Given the description of an element on the screen output the (x, y) to click on. 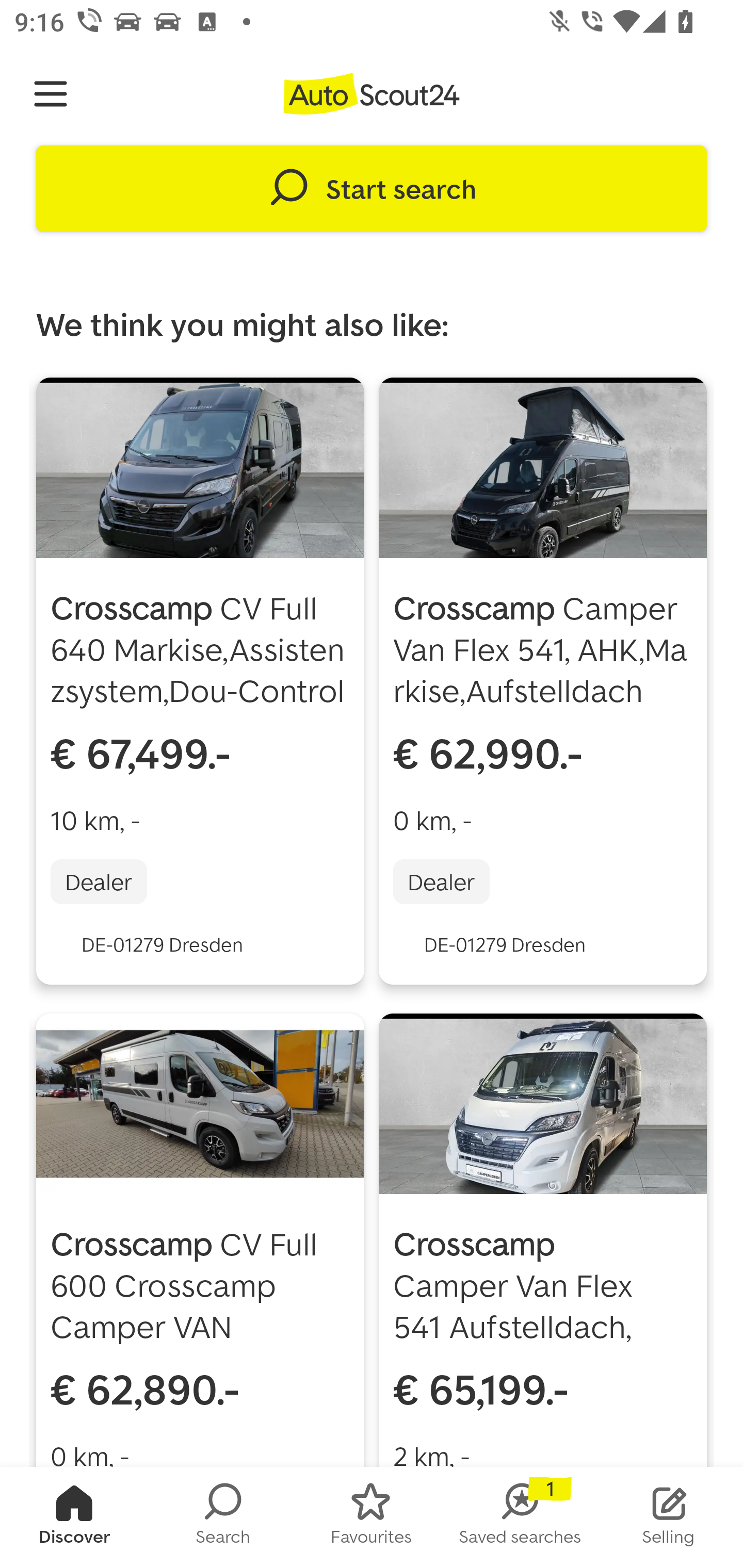
Navigate up (50, 93)
Start search (371, 188)
HOMESCREEN Discover (74, 1517)
SEARCH Search (222, 1517)
FAVORITES Favourites (371, 1517)
SAVED_SEARCHES Saved searches 1 (519, 1517)
STOCK_LIST Selling (668, 1517)
